Given the description of an element on the screen output the (x, y) to click on. 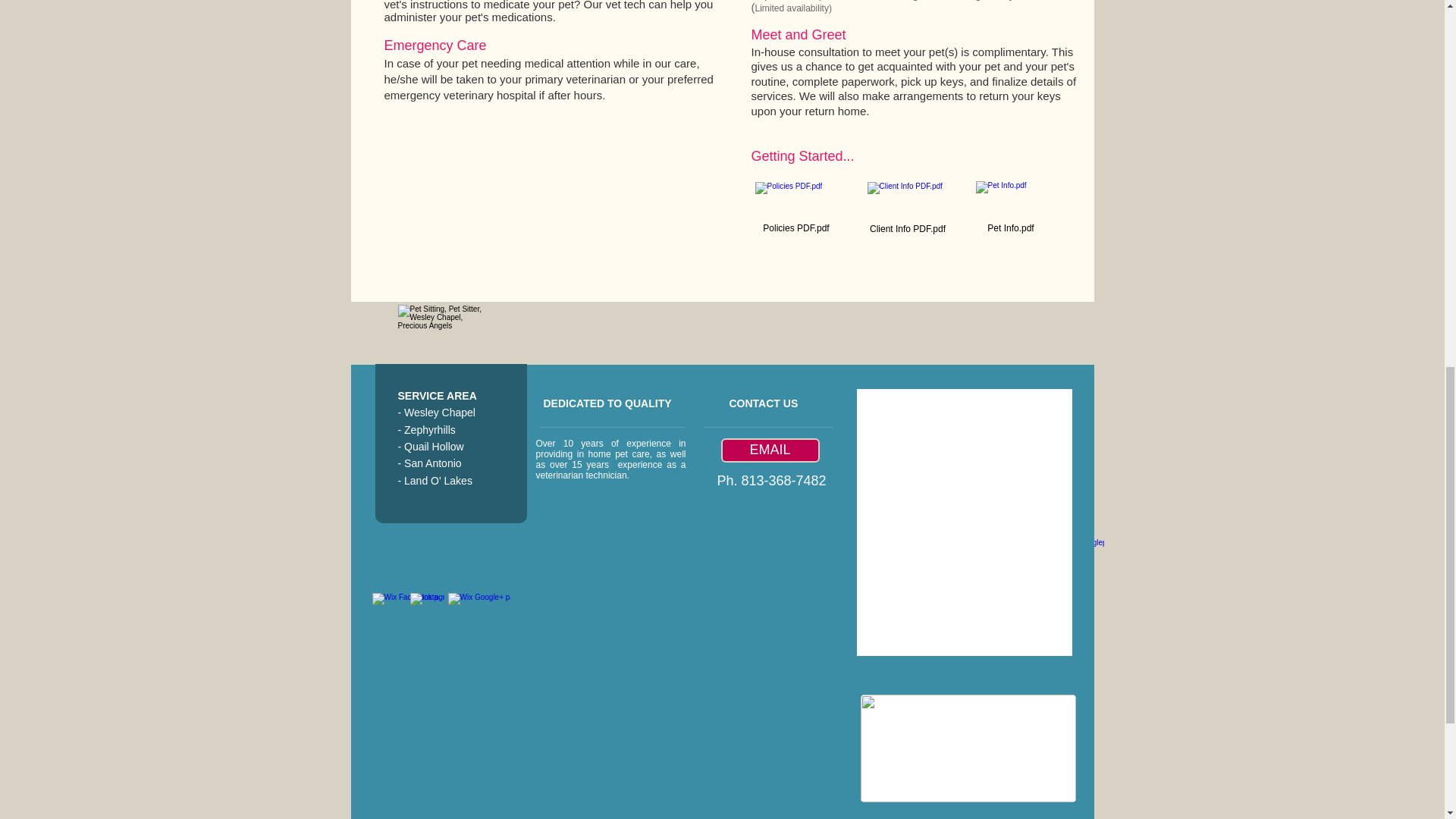
Policies PDF.pdf (796, 209)
Client Info PDF.pdf (907, 210)
Pet Info.pdf (1010, 209)
Wix.com (593, 544)
EMAIL (769, 450)
Client Info PDF.pdf (907, 210)
Pet Info.pdf (1010, 209)
Blue Cat (440, 334)
Policies PDF.pdf (796, 209)
